Given the description of an element on the screen output the (x, y) to click on. 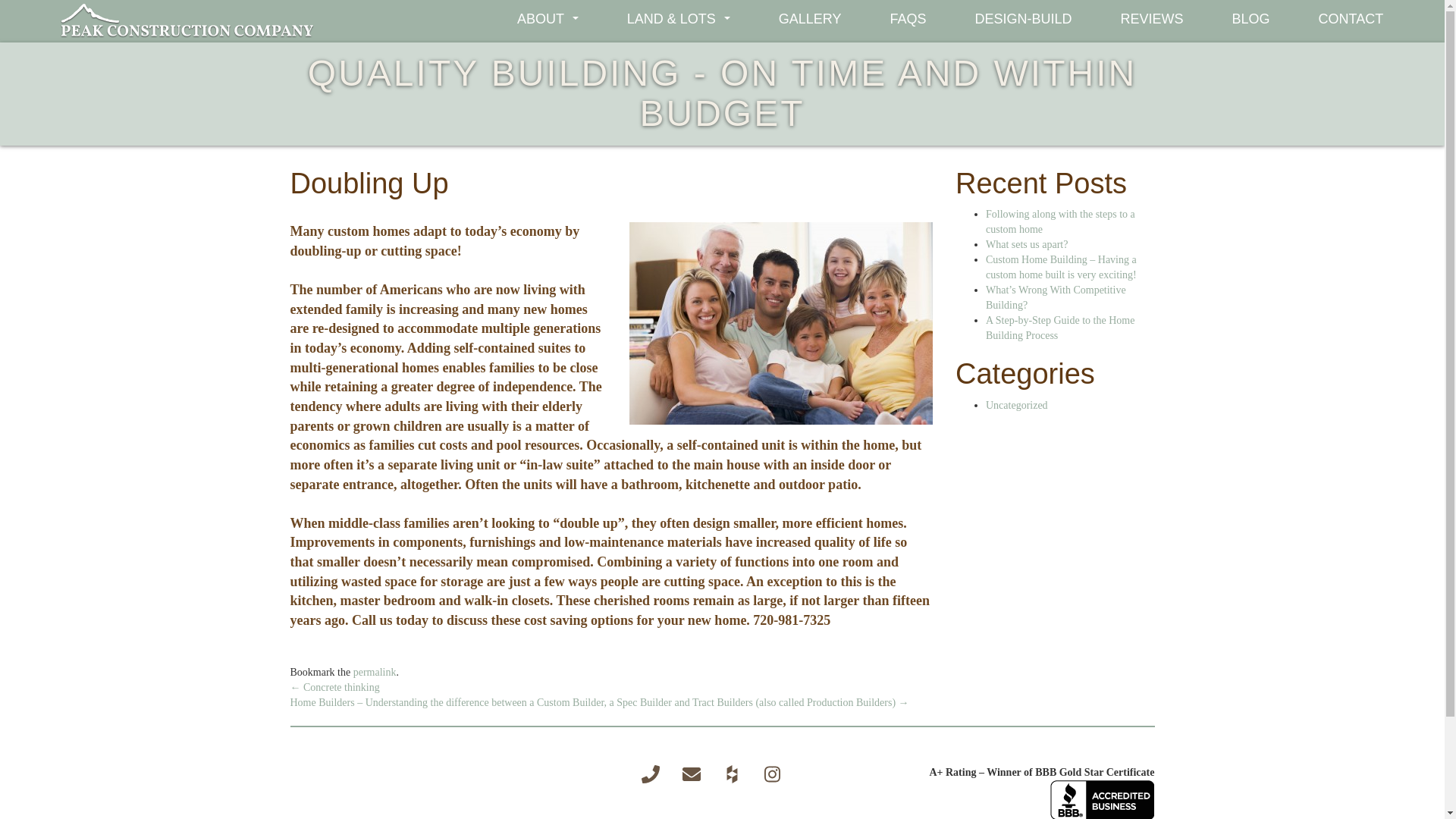
DESIGN-BUILD (1023, 18)
REVIEWS (1151, 18)
GALLERY (810, 18)
A Step-by-Step Guide to the Home Building Process (1059, 327)
GALLERY (810, 18)
Following along with the steps to a custom home (1060, 221)
What sets us apart? (1026, 244)
Uncategorized (1016, 405)
ABOUT ... (547, 18)
DESIGN-BUILD (1023, 18)
